Given the description of an element on the screen output the (x, y) to click on. 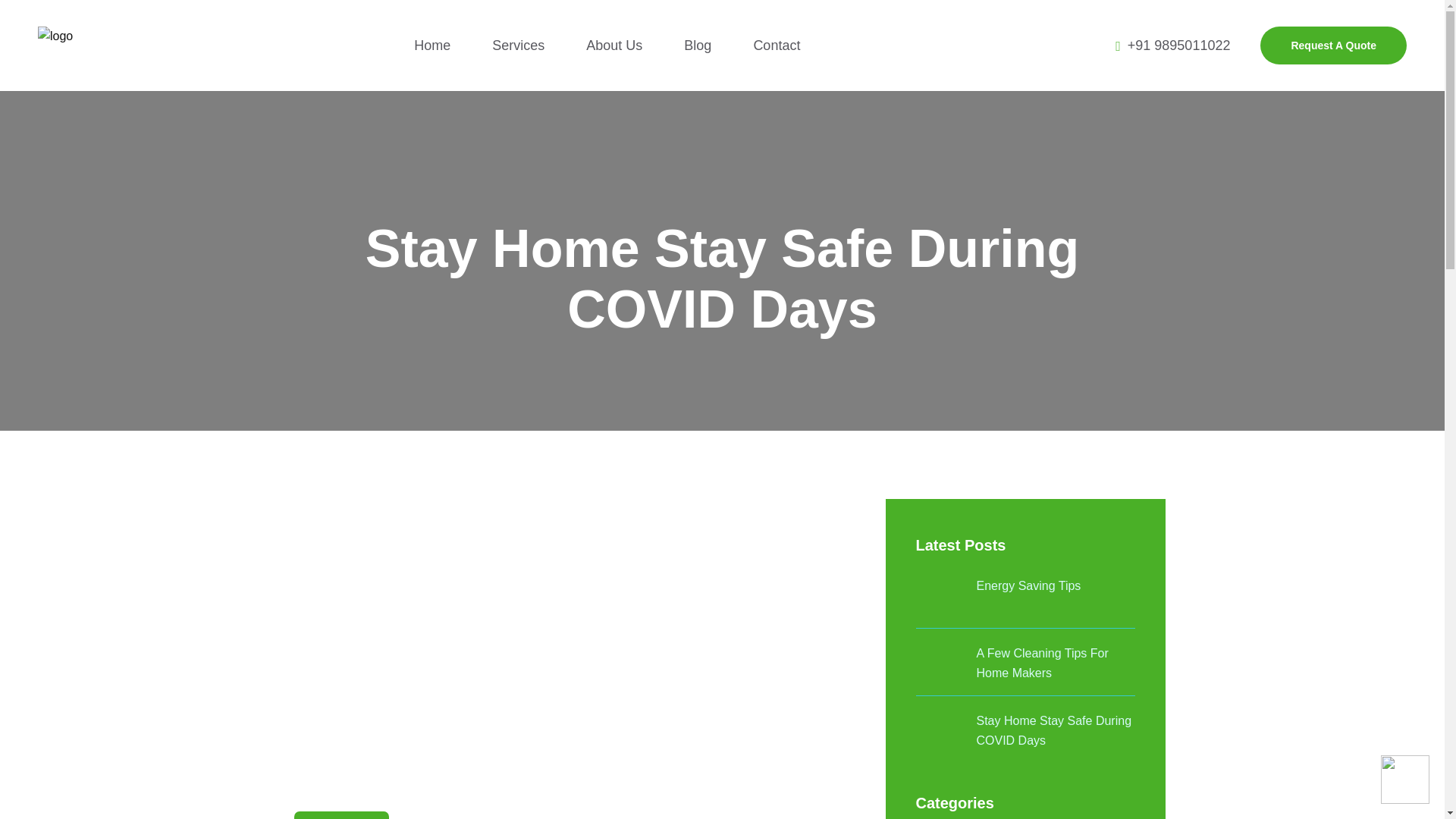
Contact (775, 45)
Eco-Serve (54, 35)
Services (518, 45)
Contact (775, 45)
A Few Cleaning Tips For Home Makers (1055, 663)
Energy Saving Tips (1028, 586)
About Us (614, 45)
Stay Home Stay Safe During COVID Days (1055, 731)
Request A Quote (1333, 45)
About Us (614, 45)
